Given the description of an element on the screen output the (x, y) to click on. 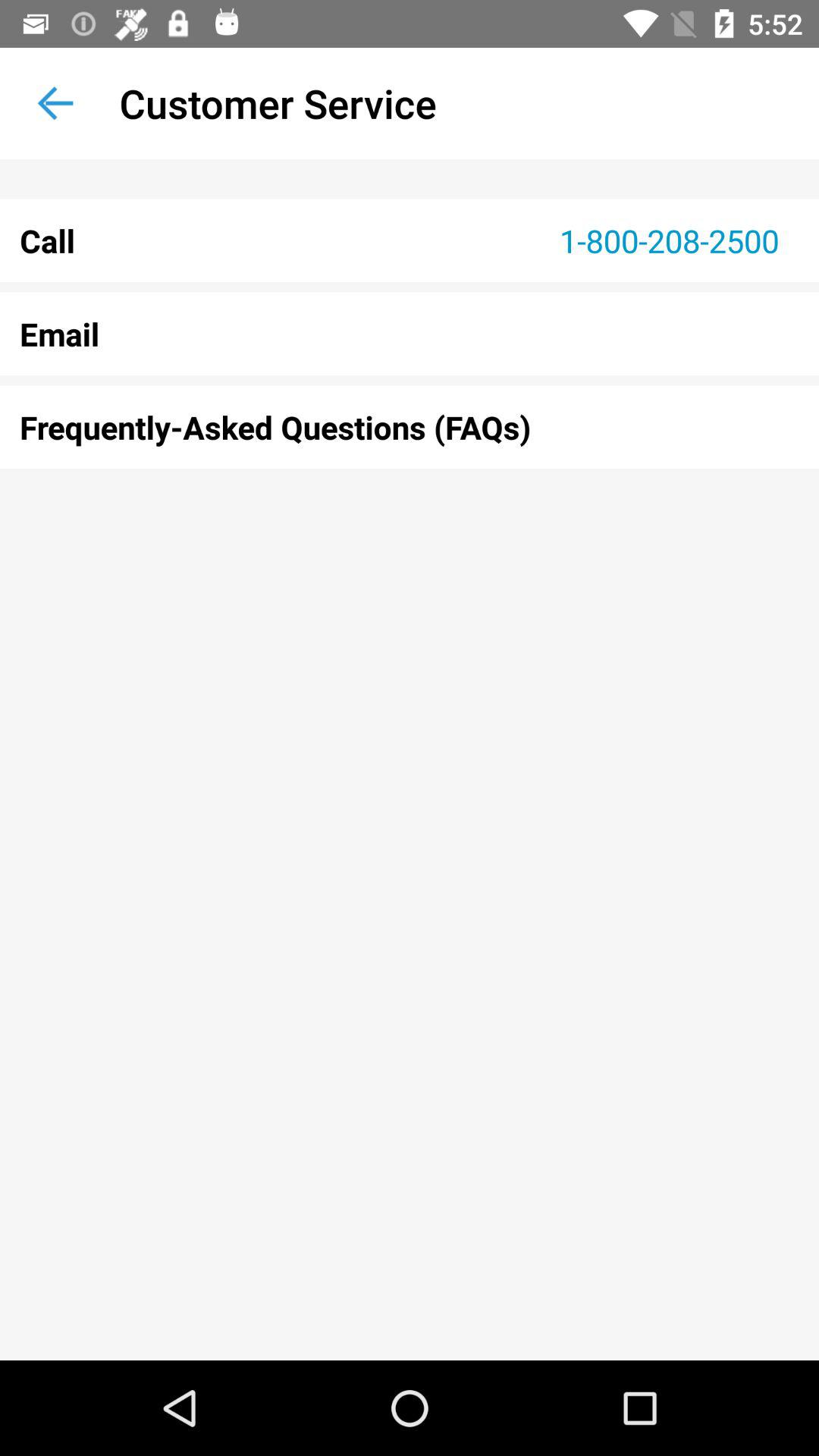
click the icon to the left of the customer service (55, 103)
